Given the description of an element on the screen output the (x, y) to click on. 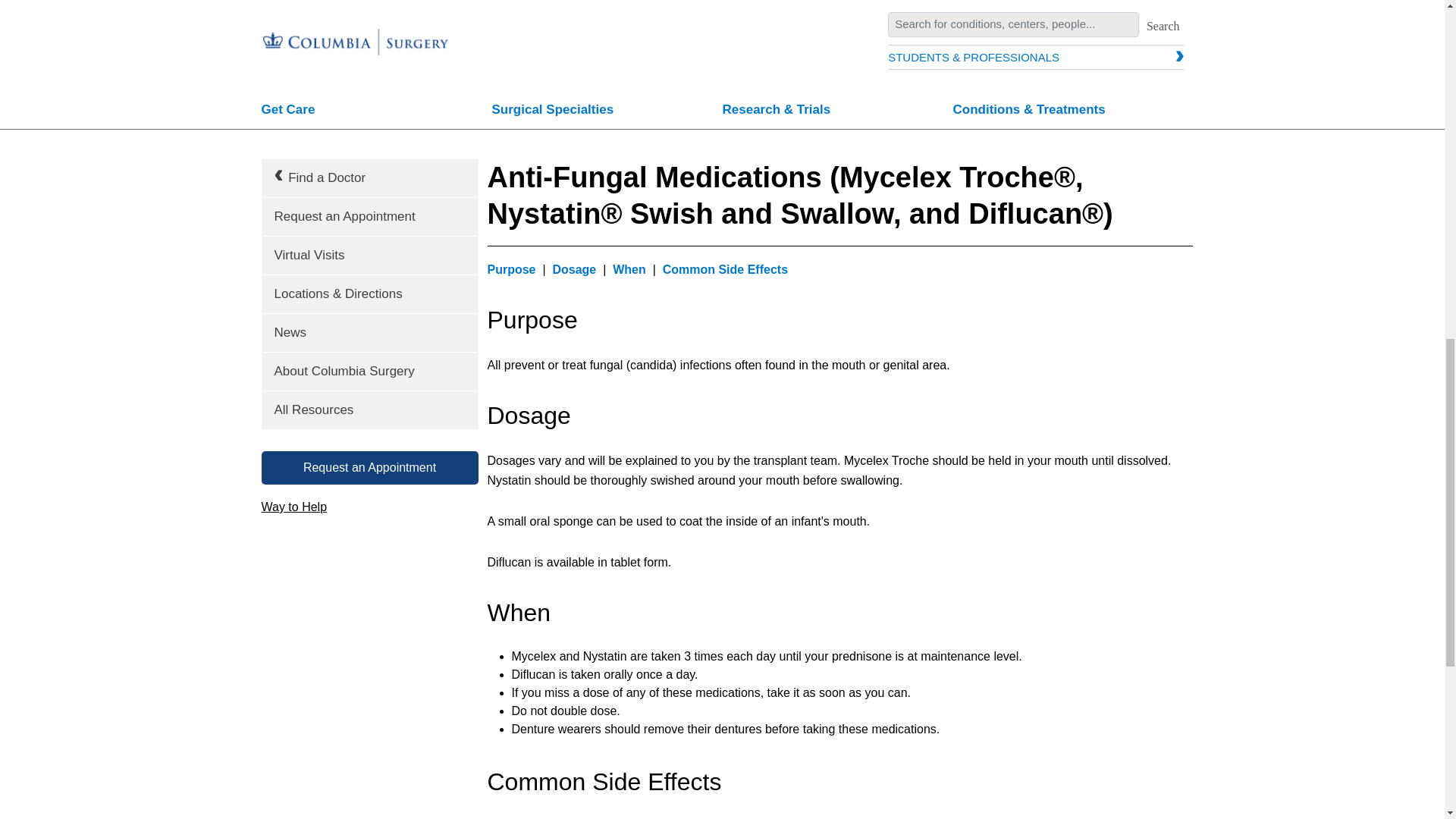
Surgical Specialties (607, 111)
Get Care (376, 111)
Home (356, 23)
Search (1163, 26)
